Given the description of an element on the screen output the (x, y) to click on. 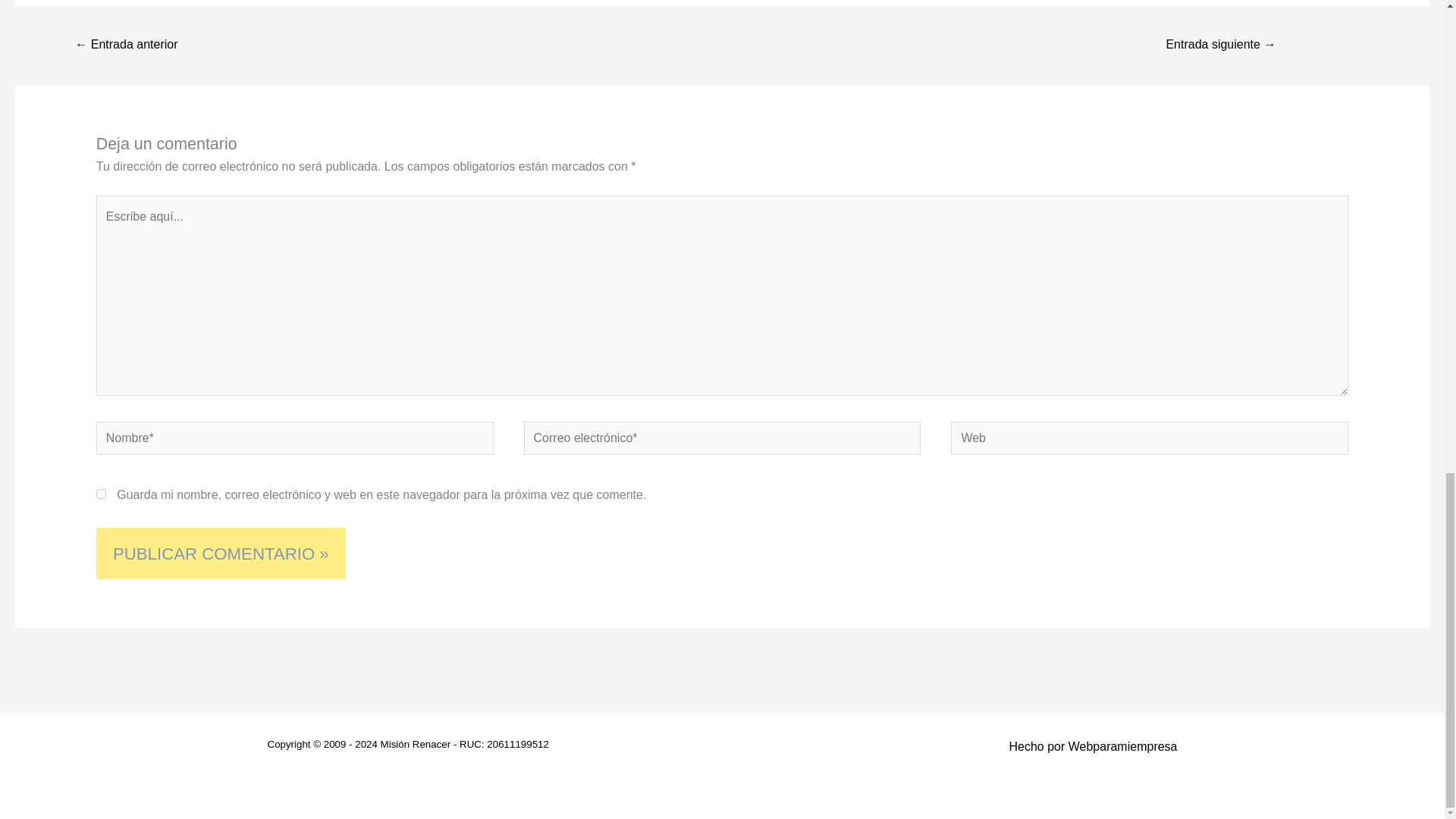
Bringing pay day loans having SSI Debit notes? (1220, 45)
yes (101, 493)
